Given the description of an element on the screen output the (x, y) to click on. 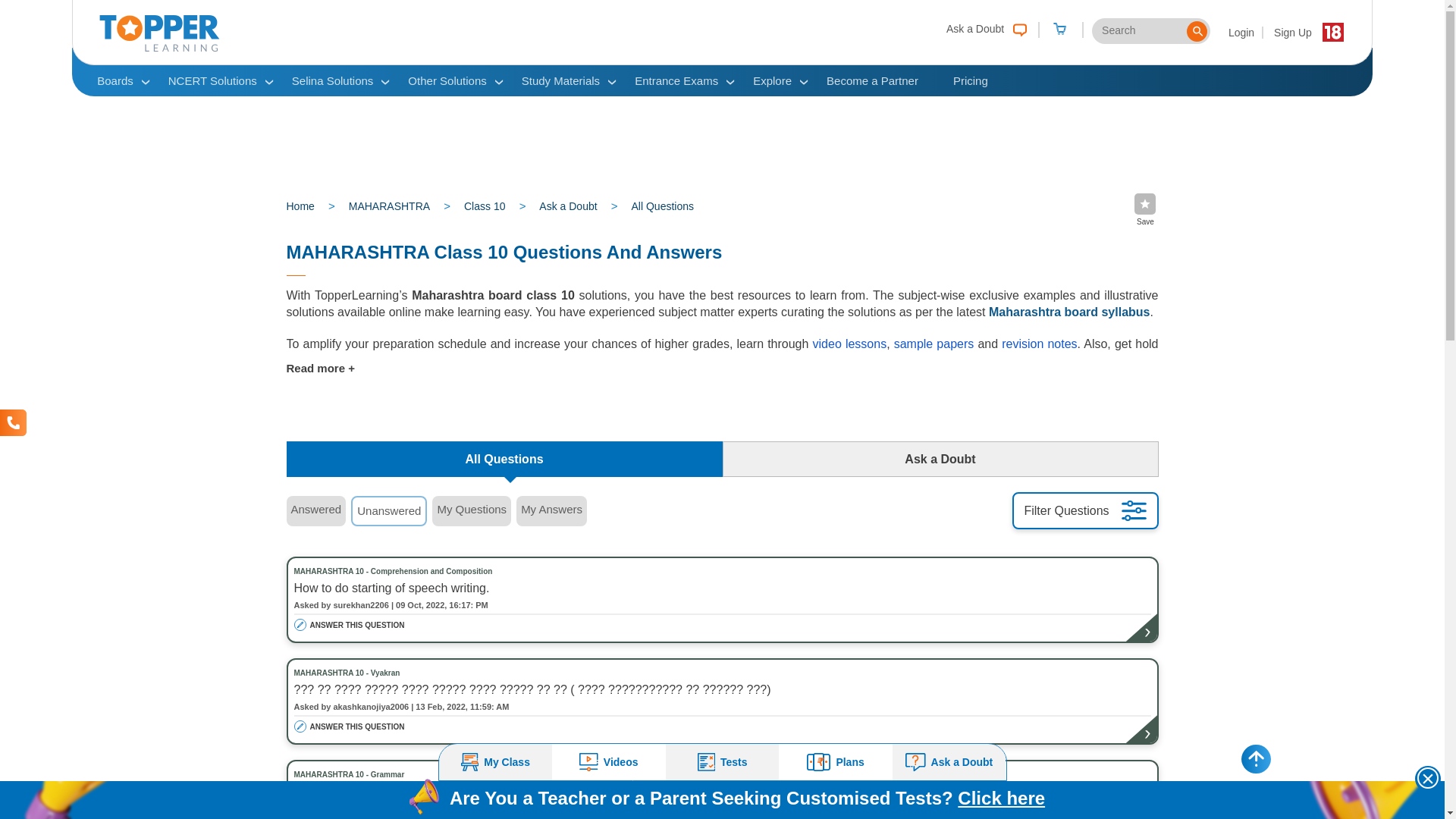
Boards (114, 80)
Ask a Doubt (983, 28)
Get in Touch (13, 422)
Cart (1059, 30)
TopperLearning (159, 47)
Login (1242, 32)
Back to top (1256, 758)
Filter (1133, 510)
Sign Up (1292, 32)
